Given the description of an element on the screen output the (x, y) to click on. 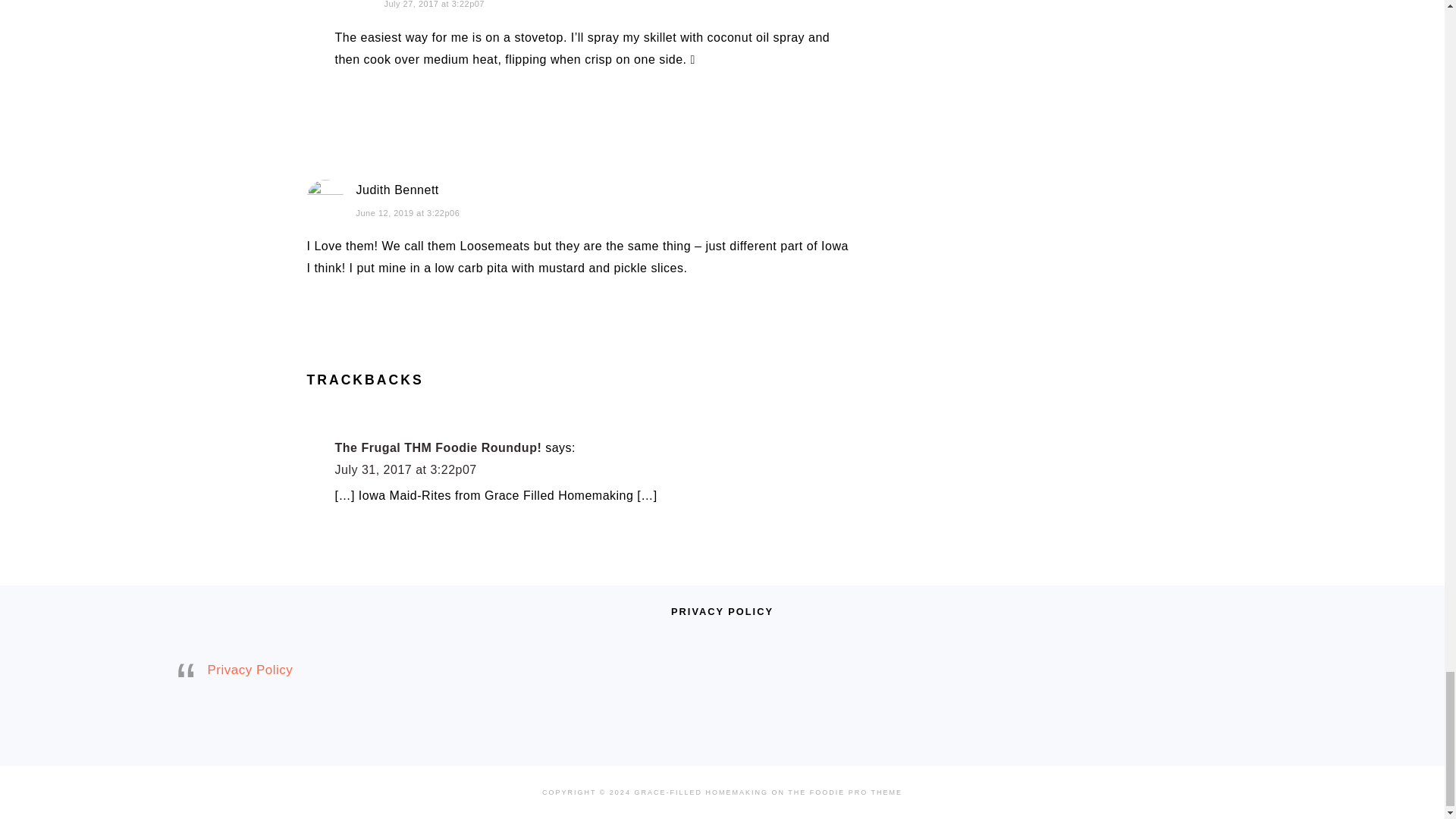
July 27, 2017 at 3:22p07 (433, 4)
